Given the description of an element on the screen output the (x, y) to click on. 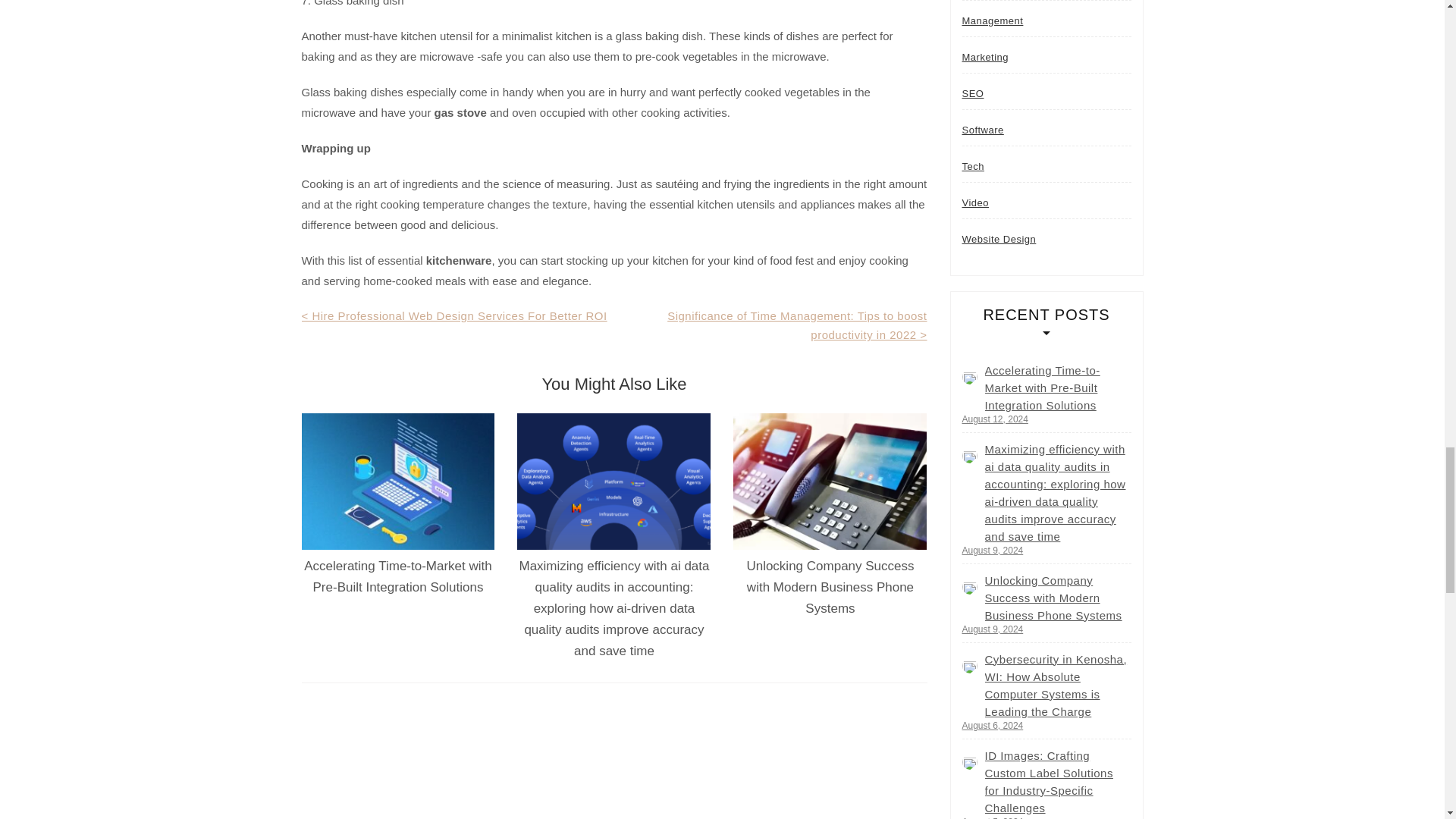
Unlocking Company Success with Modern Business Phone Systems (829, 586)
